Given the description of an element on the screen output the (x, y) to click on. 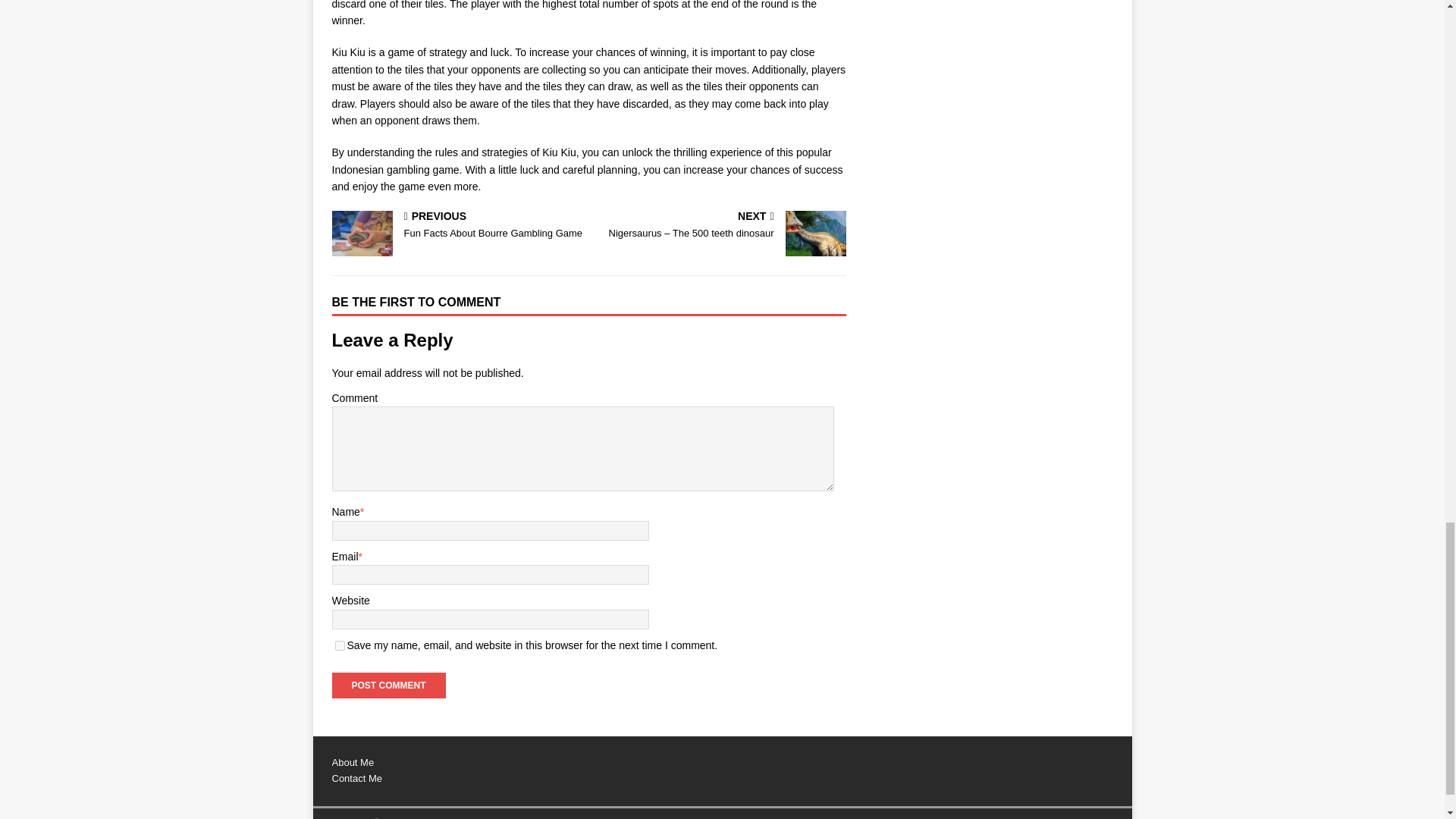
About Me (352, 762)
Contact Me (356, 778)
Post Comment (457, 225)
Post Comment (388, 685)
yes (388, 685)
